Given the description of an element on the screen output the (x, y) to click on. 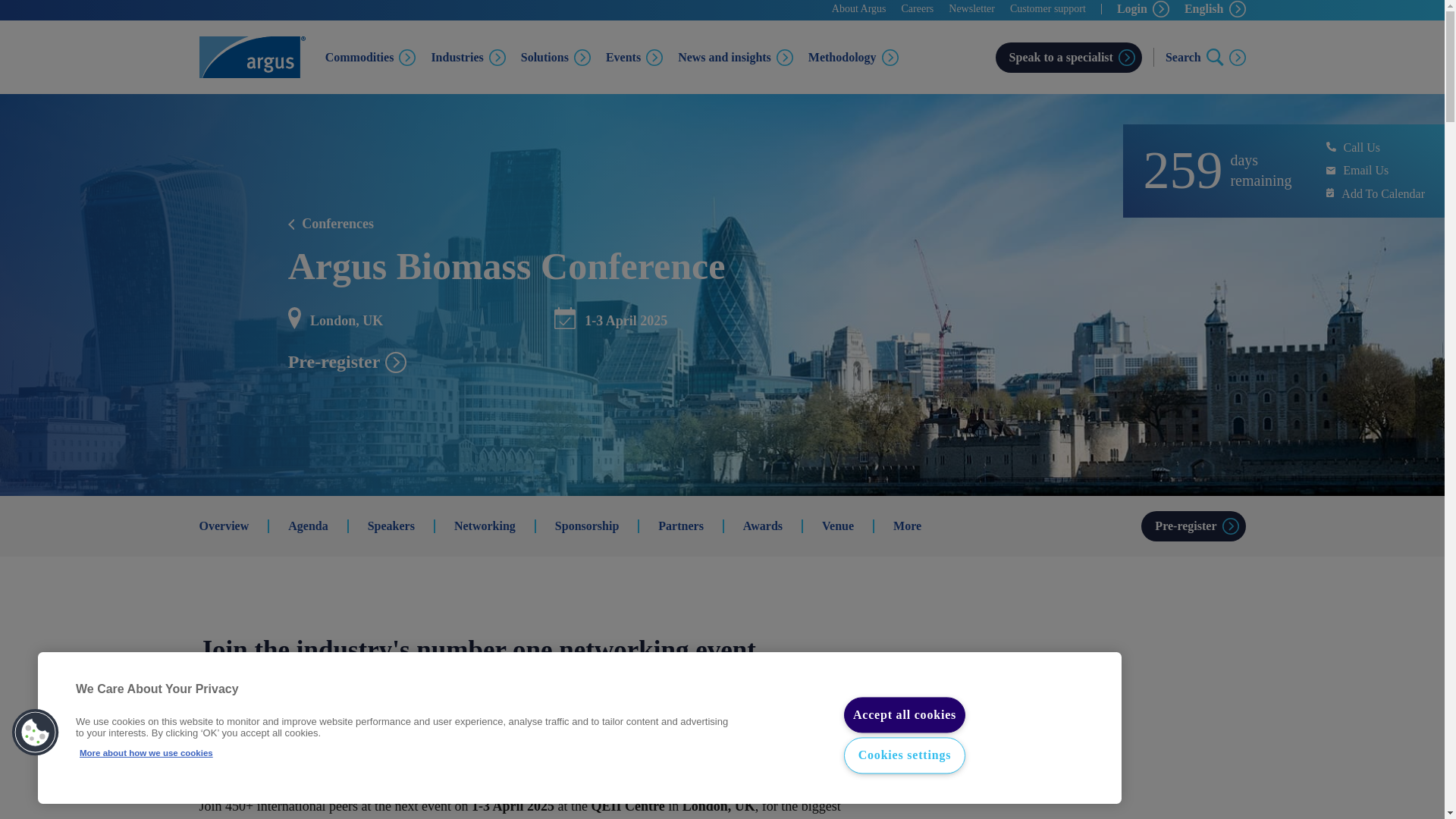
English (1215, 8)
Newsletter (971, 8)
Cookies Button (36, 732)
Login (1142, 8)
About Argus (858, 8)
Customer support (1048, 8)
Commodities (370, 56)
Careers (917, 8)
